Given the description of an element on the screen output the (x, y) to click on. 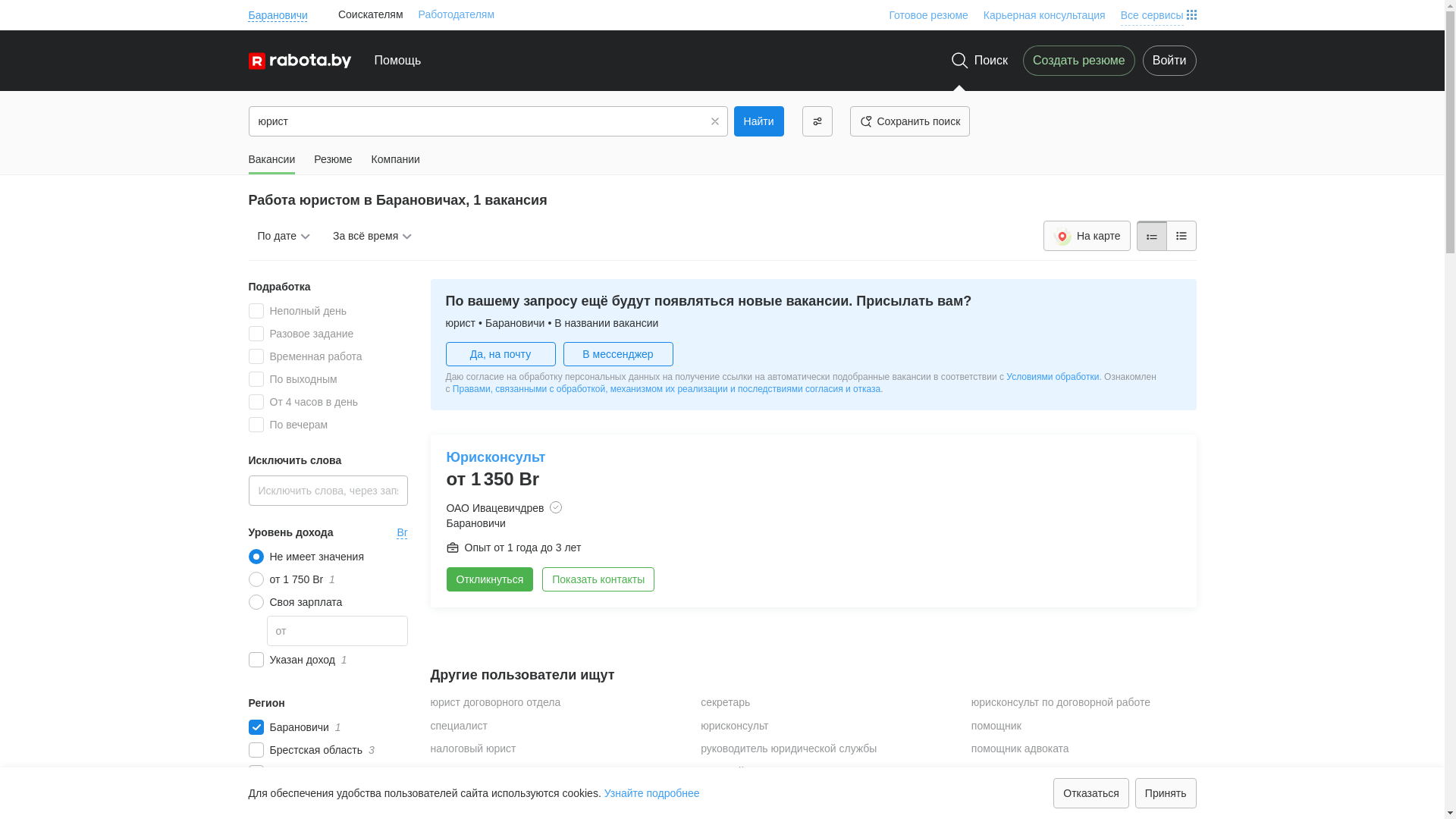
Br Element type: text (402, 532)
Clear Element type: hover (715, 121)
